Given the description of an element on the screen output the (x, y) to click on. 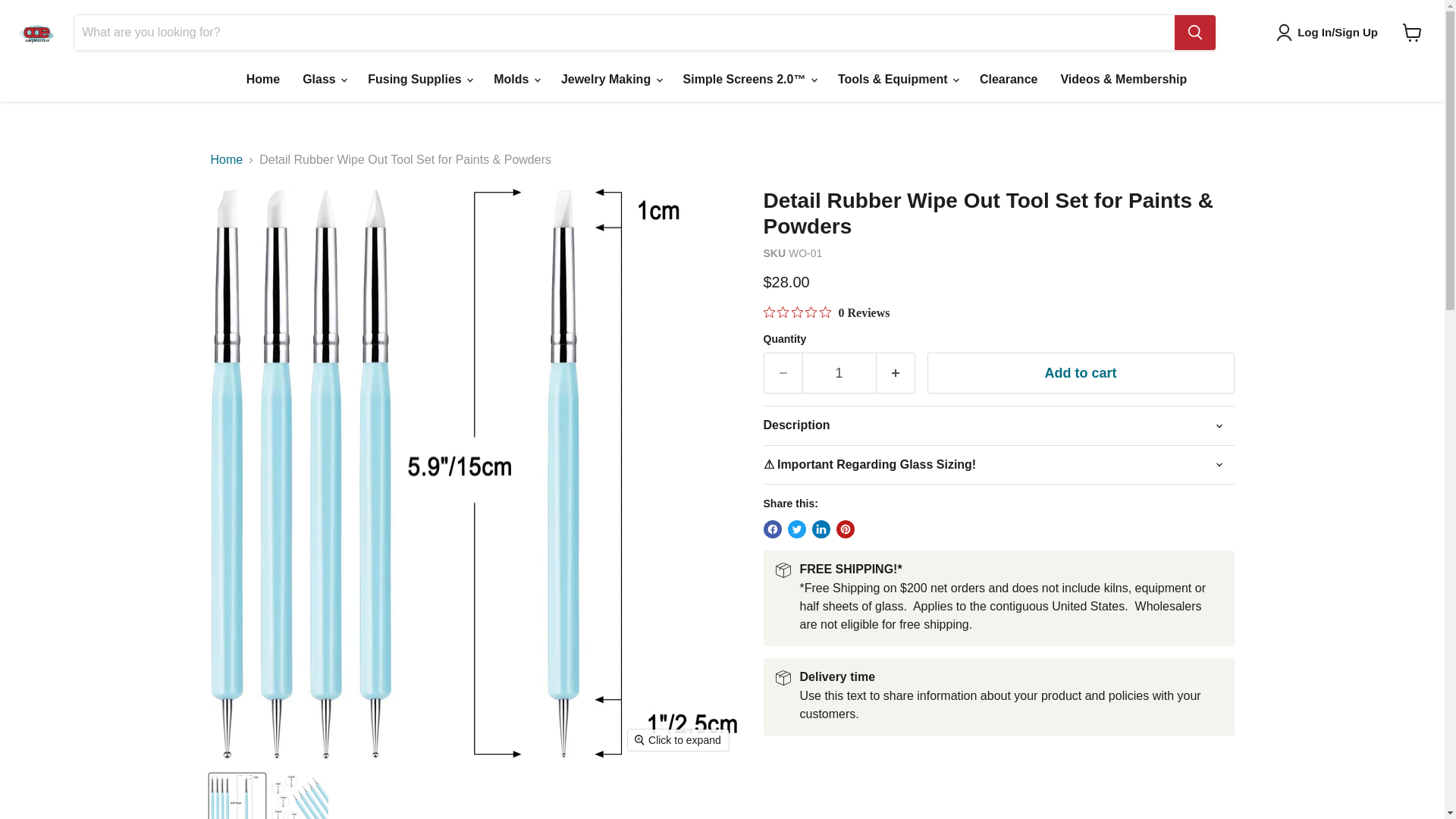
0 Reviews (825, 313)
View cart (1411, 32)
Home (262, 79)
1 (839, 372)
